Given the description of an element on the screen output the (x, y) to click on. 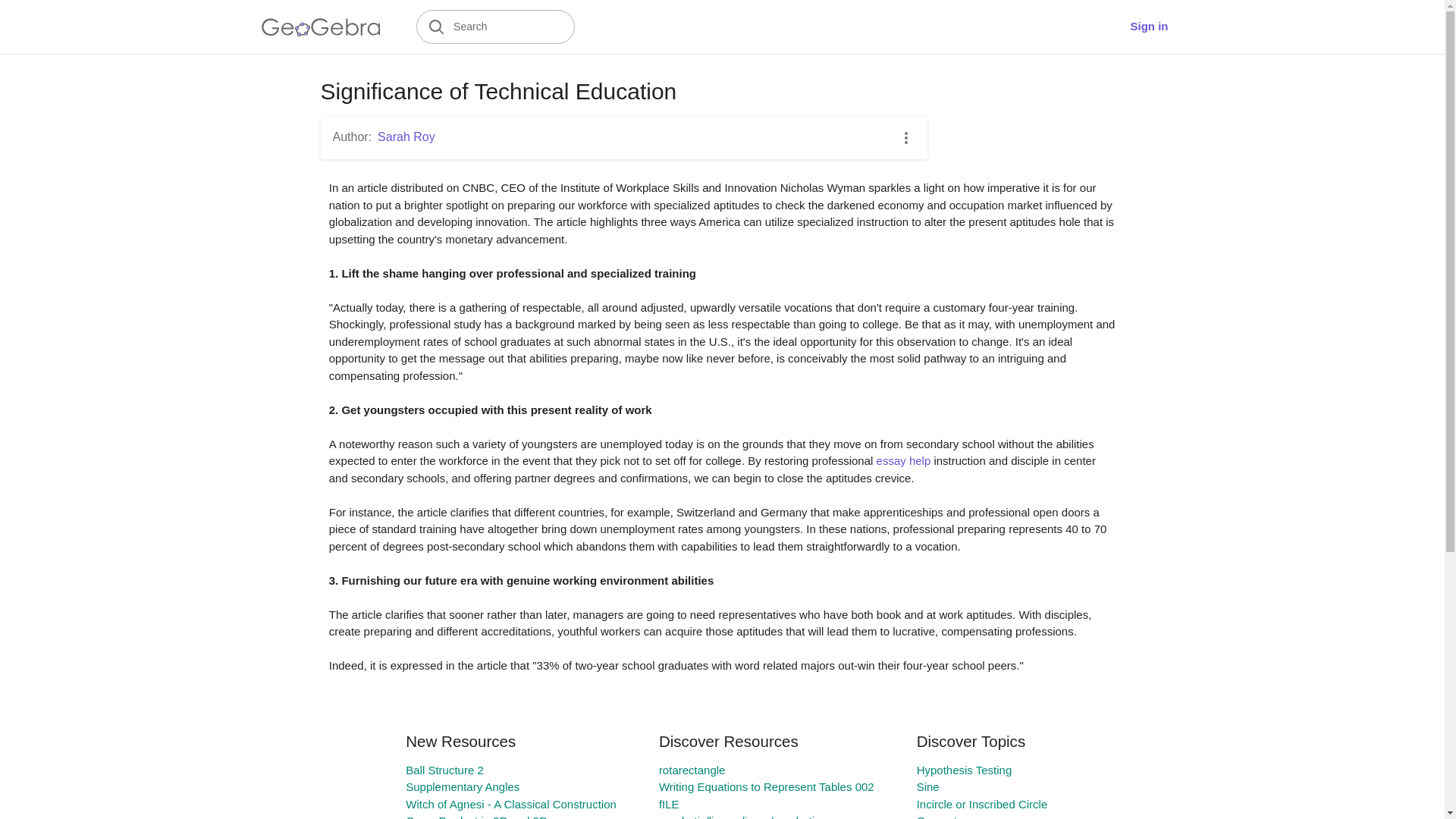
rotarectangle (692, 769)
Supplementary Angles (462, 786)
Cross Product in 2D and 3D (476, 816)
Geometry (941, 816)
Witch of Agnesi - A Classical Construction (510, 803)
Incircle or Inscribed Circle (982, 803)
Sign in (1148, 27)
Sine (928, 786)
Hypothesis Testing (964, 769)
Sarah Roy (406, 136)
Writing Equations to Represent Tables 002 (767, 786)
Ball Structure 2 (444, 769)
fILE (669, 803)
essay help (903, 460)
